Given the description of an element on the screen output the (x, y) to click on. 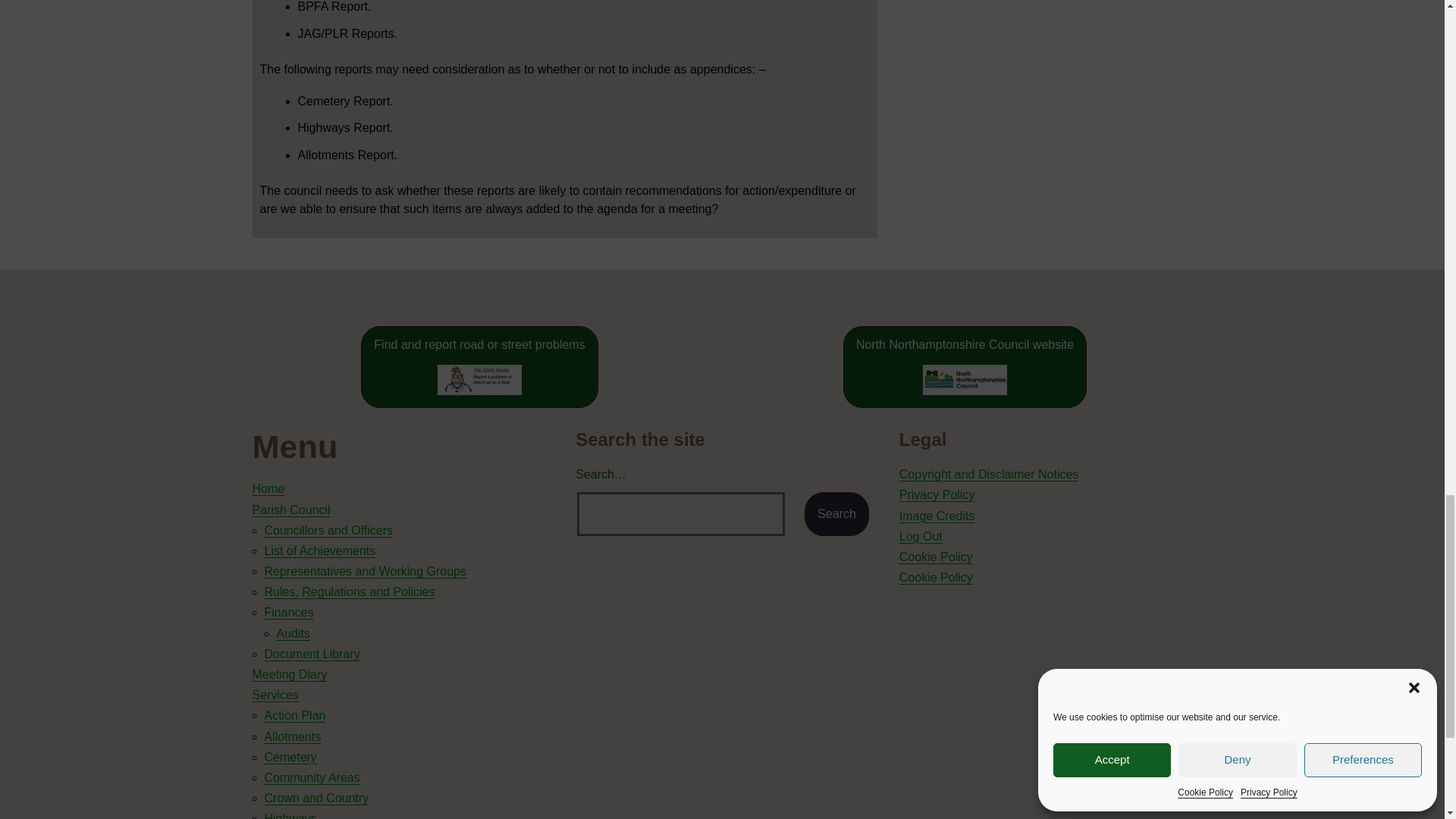
Visit the Northamptonshire County Council website (964, 366)
Search (837, 514)
Search (837, 514)
